Given the description of an element on the screen output the (x, y) to click on. 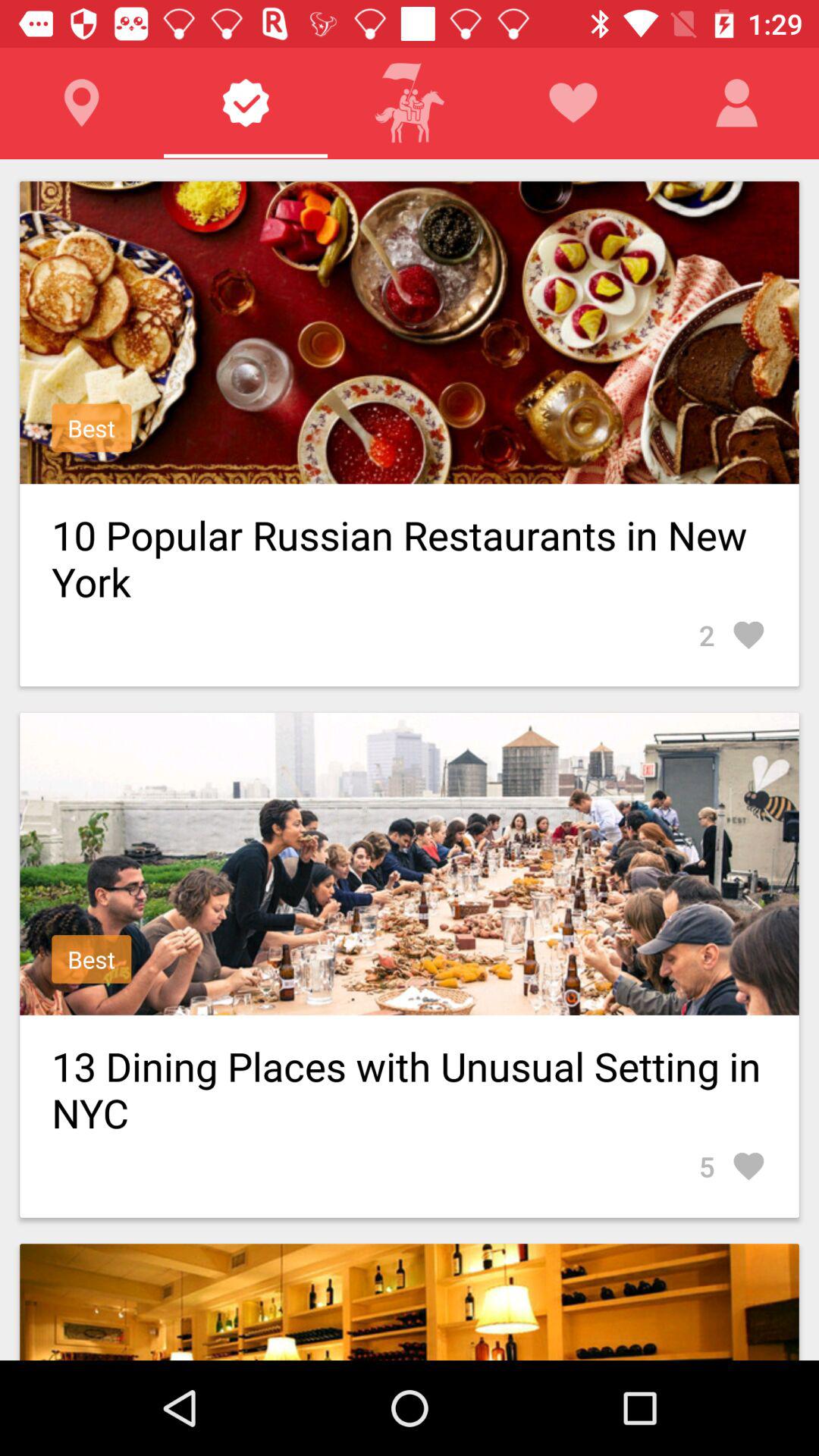
launch the icon at the bottom right corner (732, 1166)
